Given the description of an element on the screen output the (x, y) to click on. 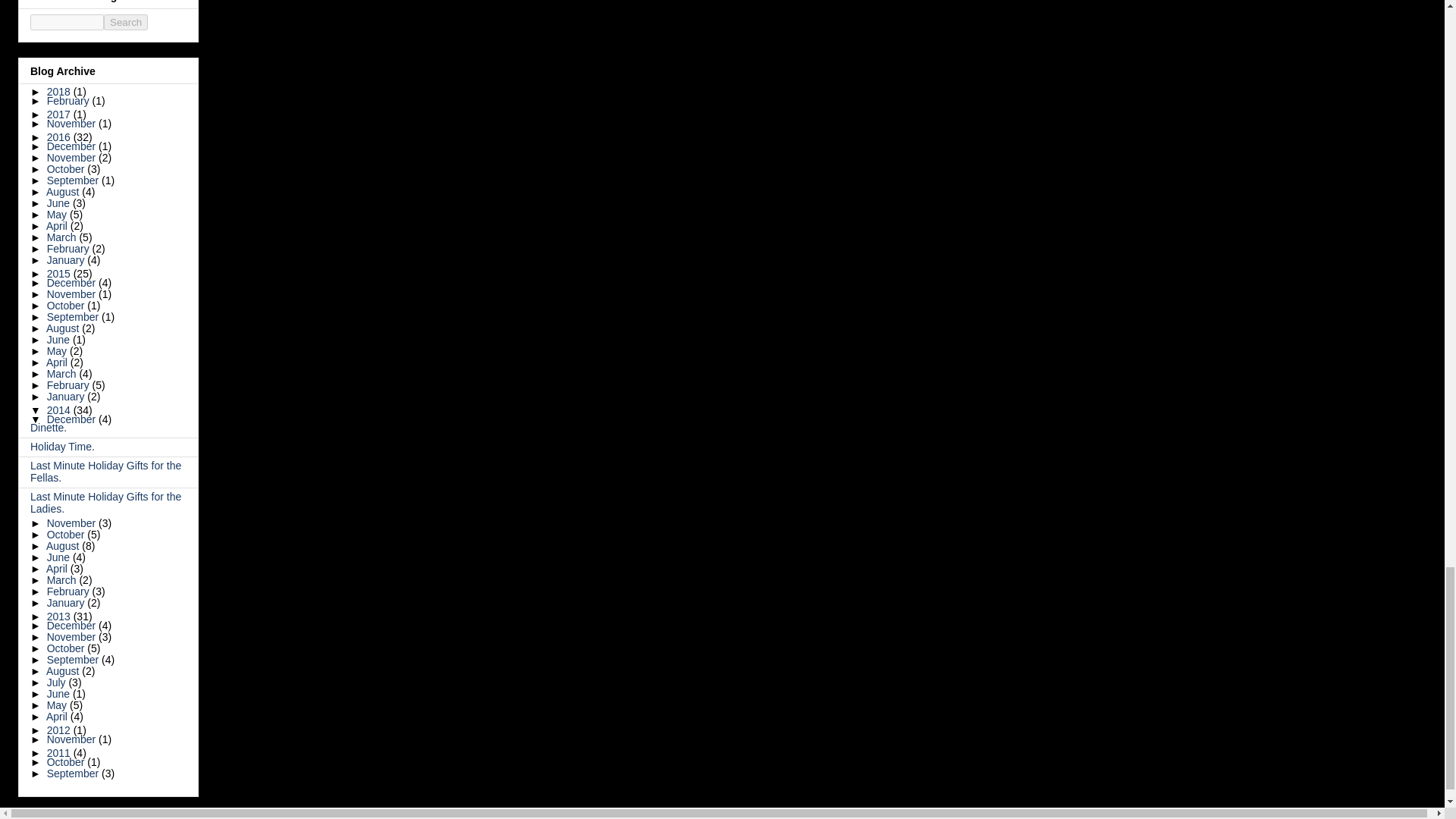
search (66, 22)
search (125, 22)
Search (125, 22)
Search (125, 22)
